Given the description of an element on the screen output the (x, y) to click on. 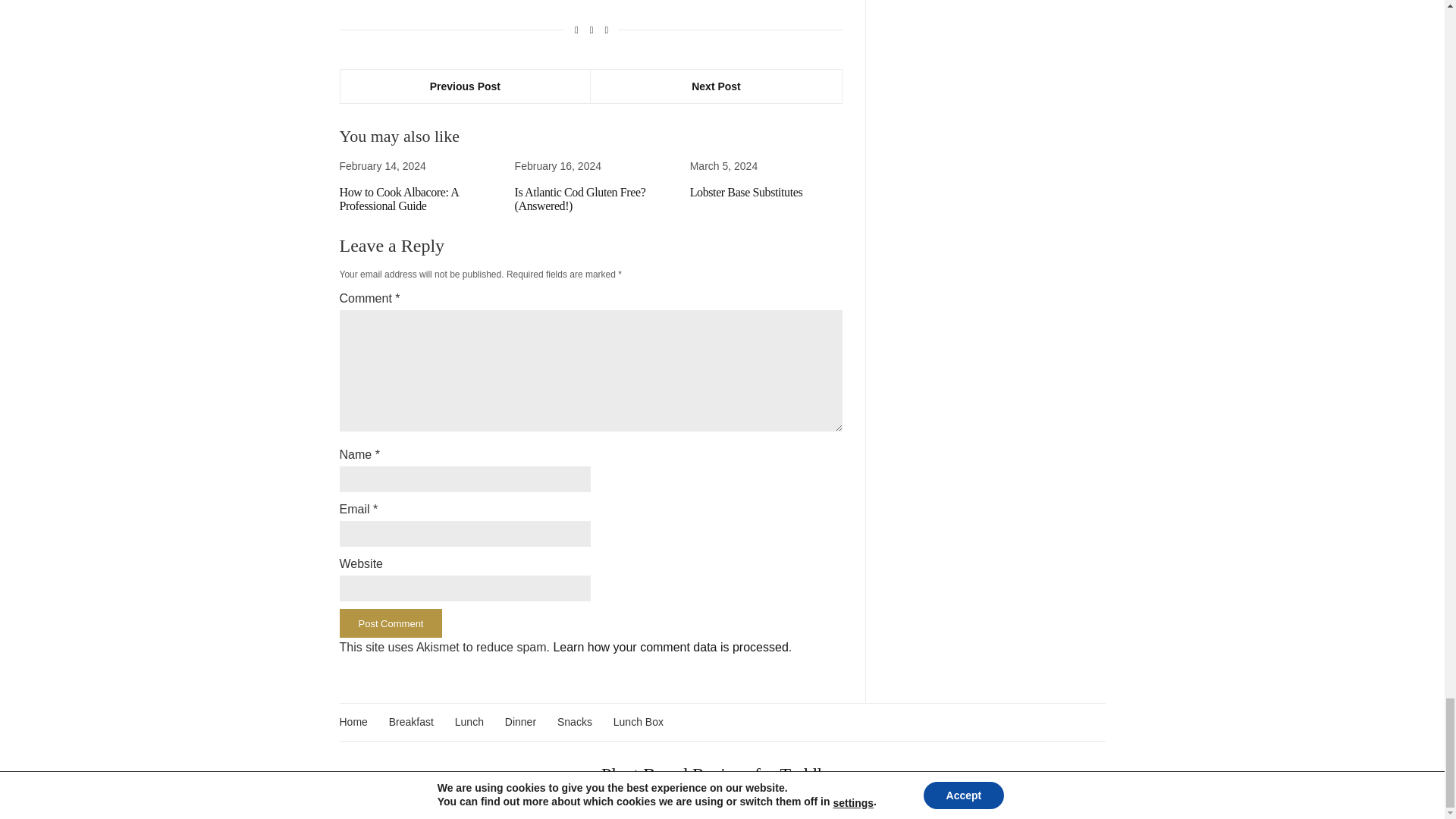
Previous Post (465, 85)
How to Cook Albacore: A Professional Guide (398, 198)
Learn how your comment data is processed (670, 646)
Snacks (574, 722)
Home (353, 722)
Dinner (520, 722)
Lunch Box (637, 722)
Next Post (716, 85)
Lunch (468, 722)
Lobster Base Substitutes (746, 192)
